Given the description of an element on the screen output the (x, y) to click on. 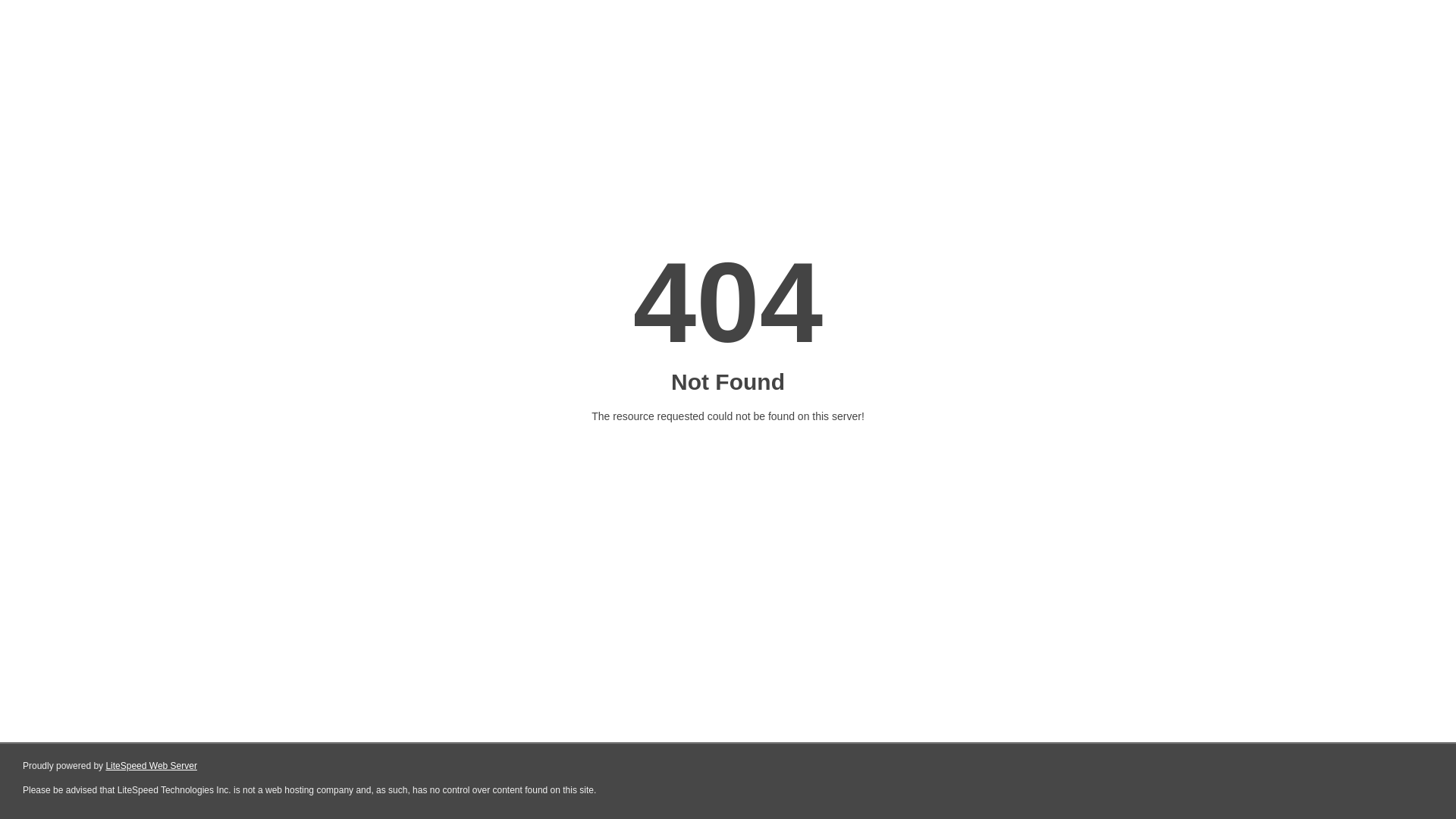
LiteSpeed Web Server Element type: text (151, 765)
